Given the description of an element on the screen output the (x, y) to click on. 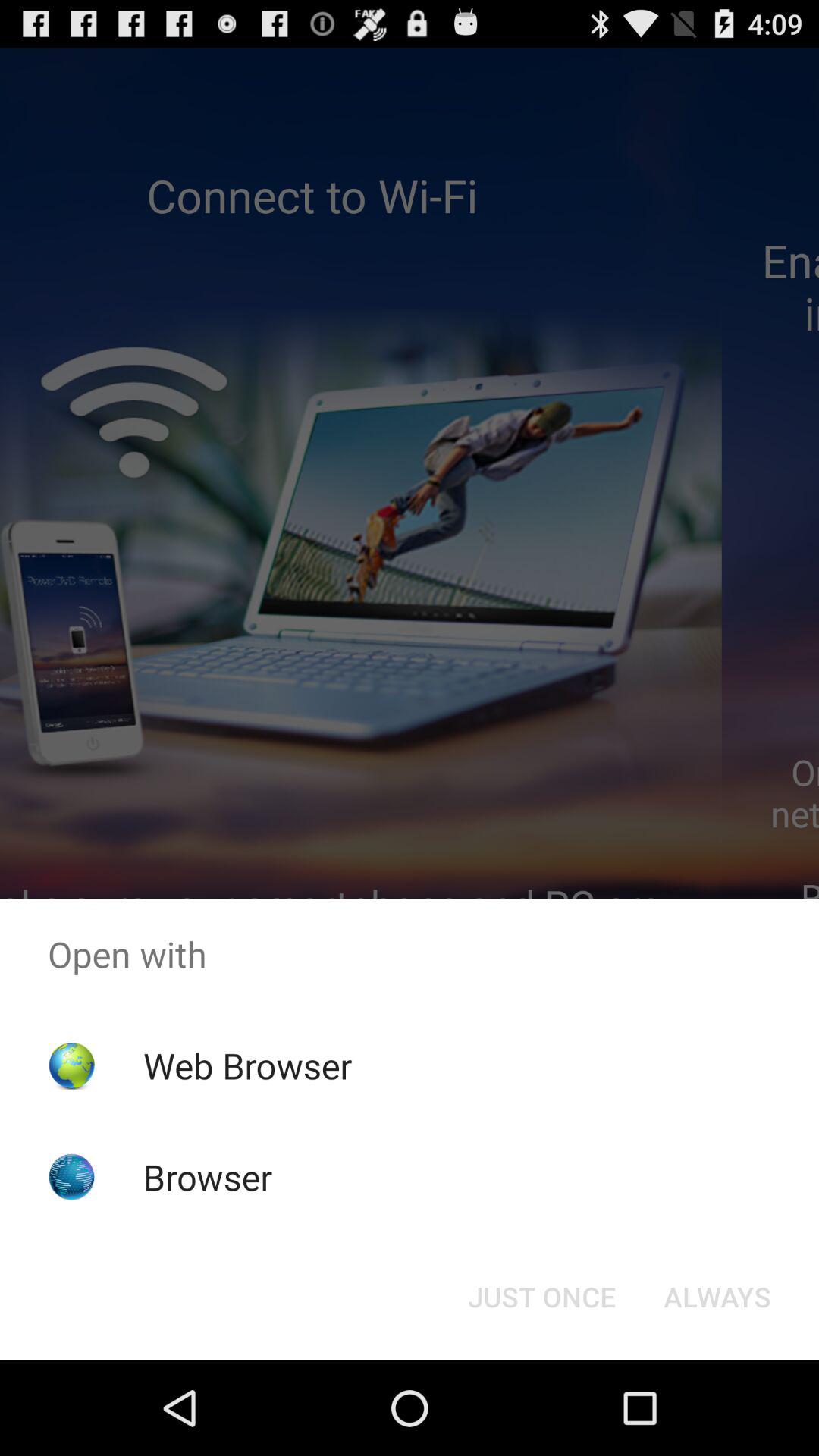
select icon at the bottom right corner (717, 1296)
